Given the description of an element on the screen output the (x, y) to click on. 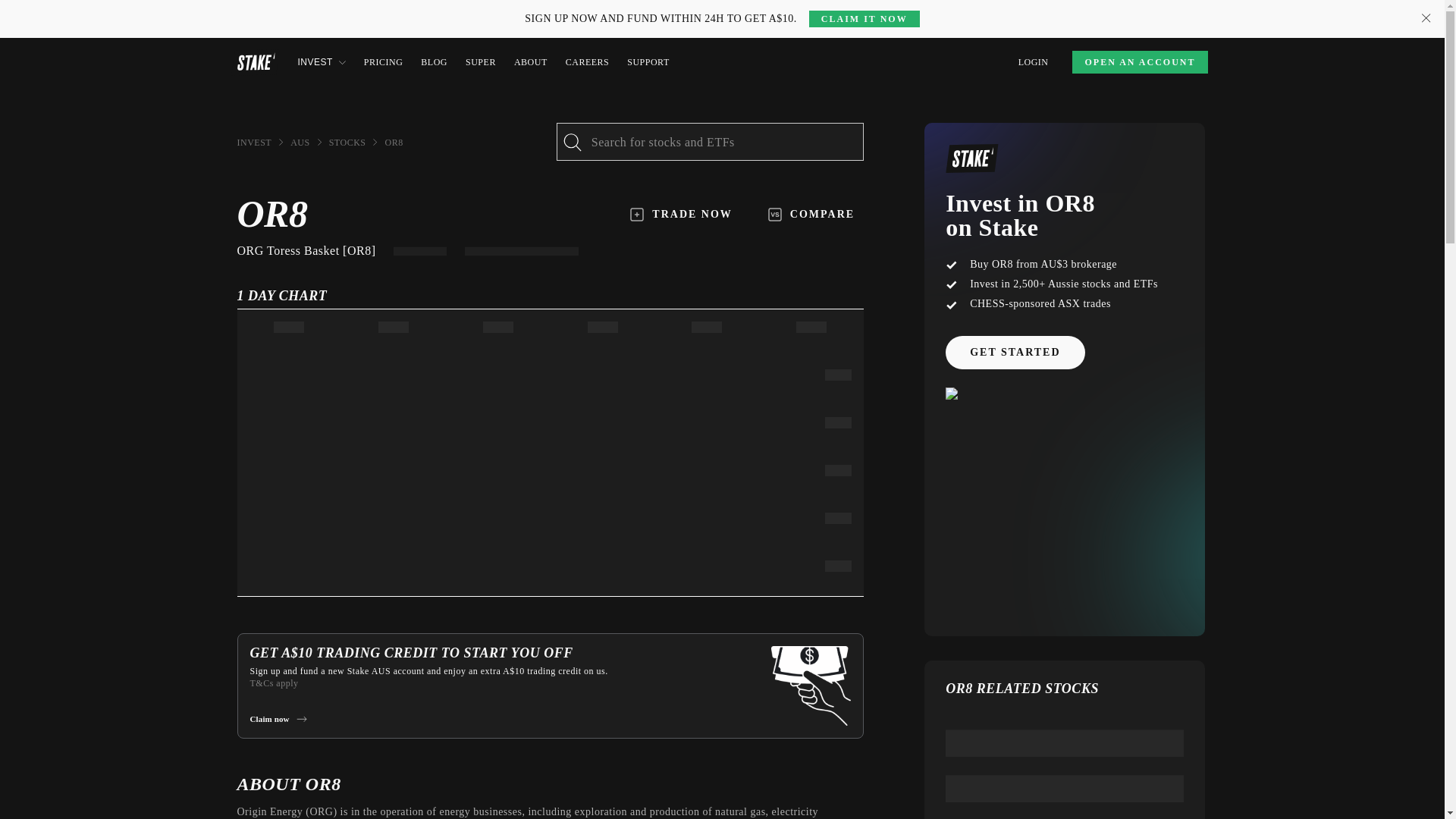
OR8 (393, 142)
COMPARE (811, 213)
INVEST (252, 142)
AUS (299, 142)
Claim now (277, 718)
CLAIM IT NOW (864, 18)
ABOUT (530, 61)
STOCKS (347, 142)
LOGIN (1032, 61)
GET STARTED (1014, 352)
PRICING (383, 61)
CAREERS (588, 61)
BLOG (433, 61)
Learn more (341, 9)
OPEN AN ACCOUNT (1139, 61)
